Given the description of an element on the screen output the (x, y) to click on. 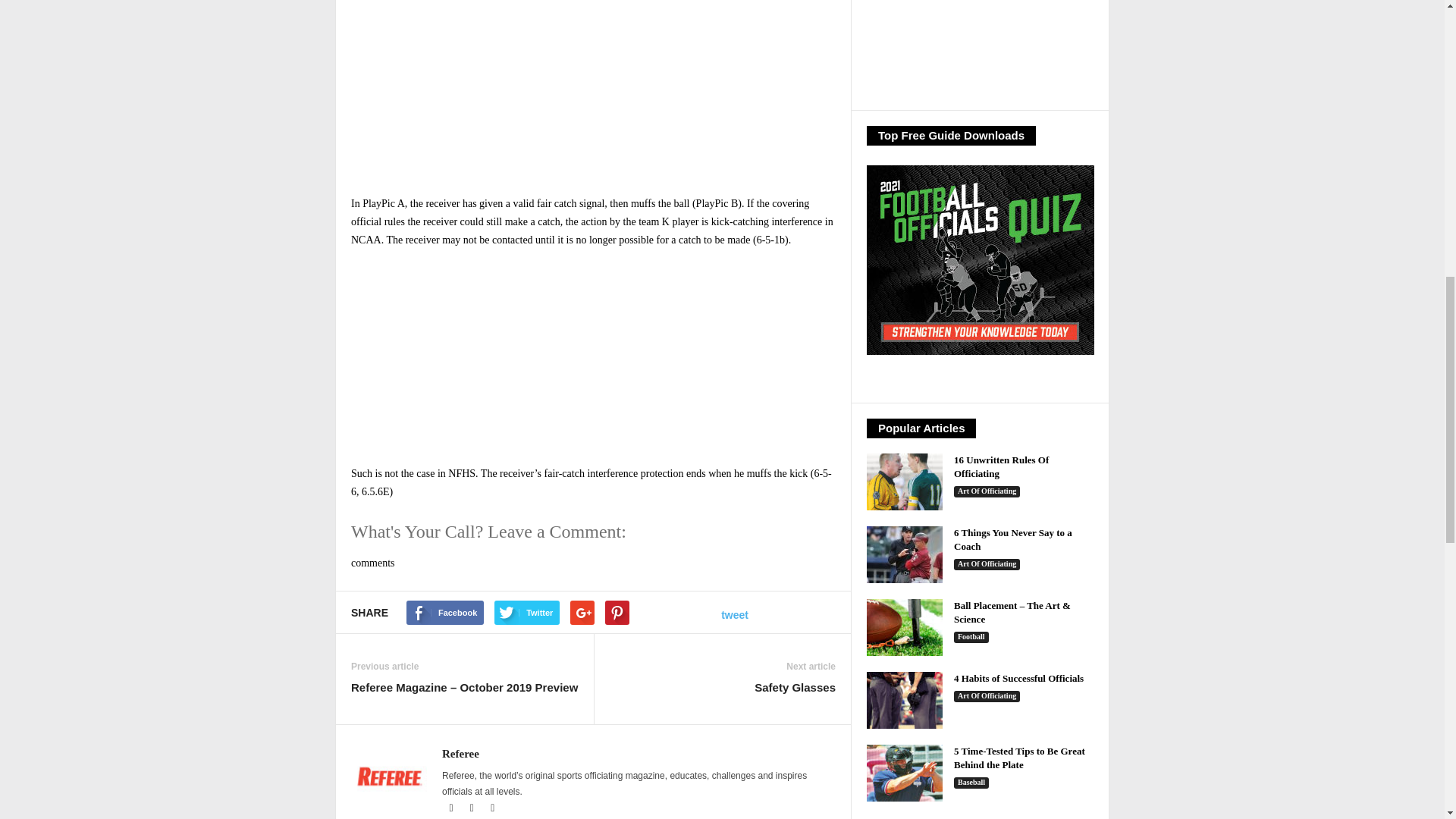
Facebook (452, 808)
Youtube (492, 808)
Twitter (473, 808)
